Given the description of an element on the screen output the (x, y) to click on. 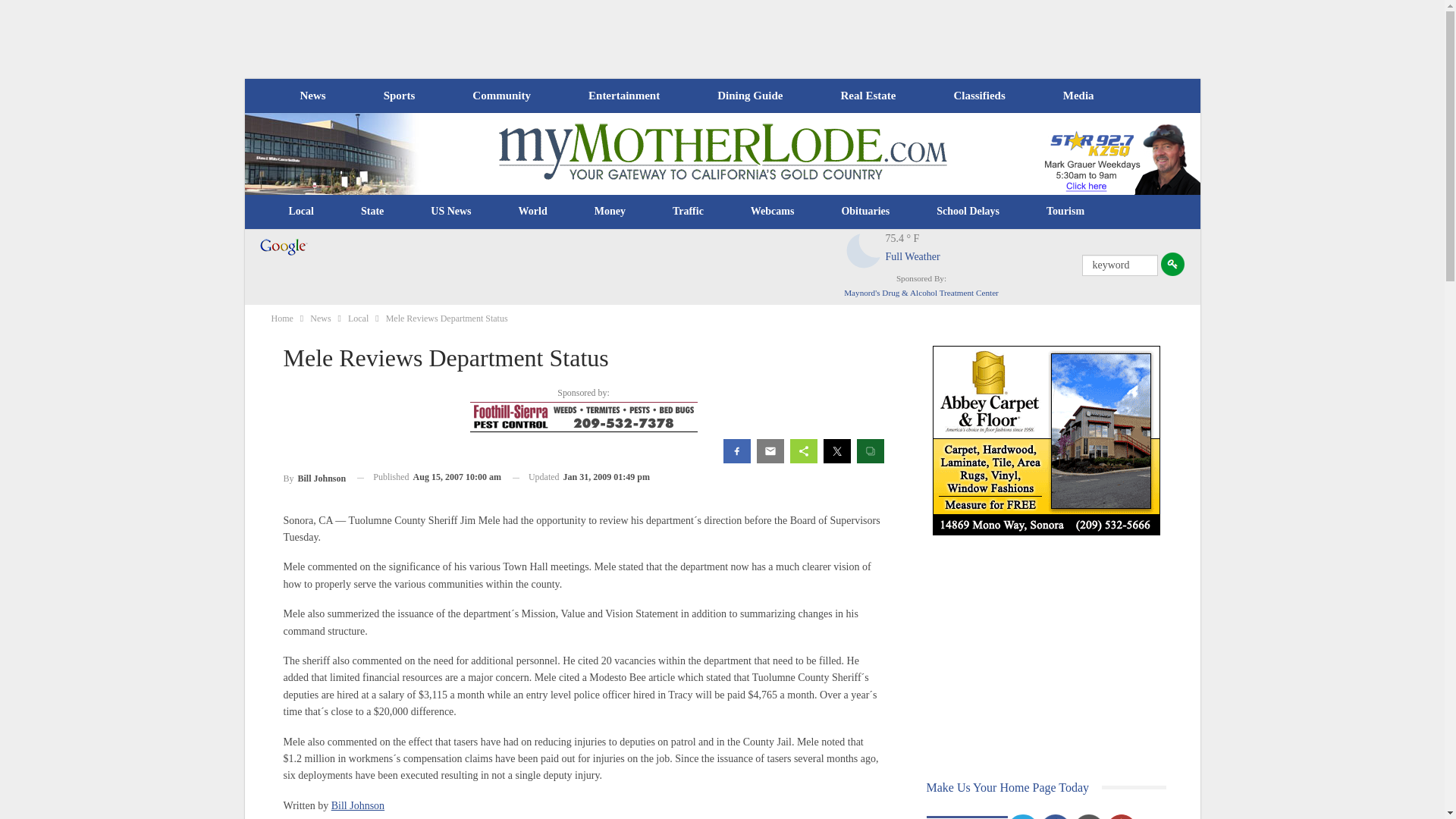
Tourism (1065, 211)
Submit (1172, 264)
Dining Guide (749, 95)
Entertainment (624, 95)
Foothill-Sierra Pest Control (583, 417)
keyword (1119, 265)
Classifieds (979, 95)
World (532, 211)
Money (609, 211)
Traffic (687, 211)
Real Estate (868, 95)
